Given the description of an element on the screen output the (x, y) to click on. 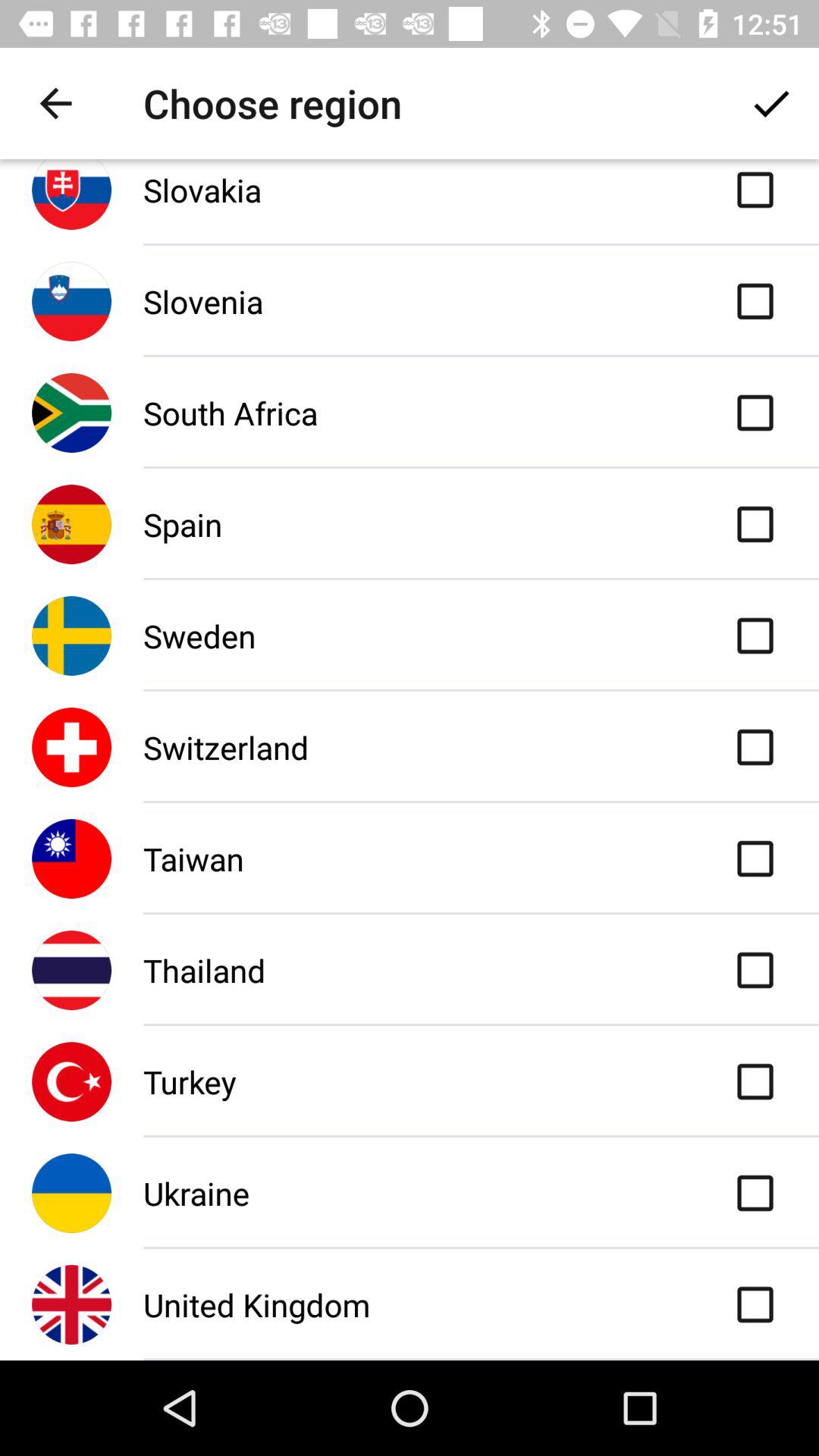
turn off icon next to choose region item (771, 103)
